Given the description of an element on the screen output the (x, y) to click on. 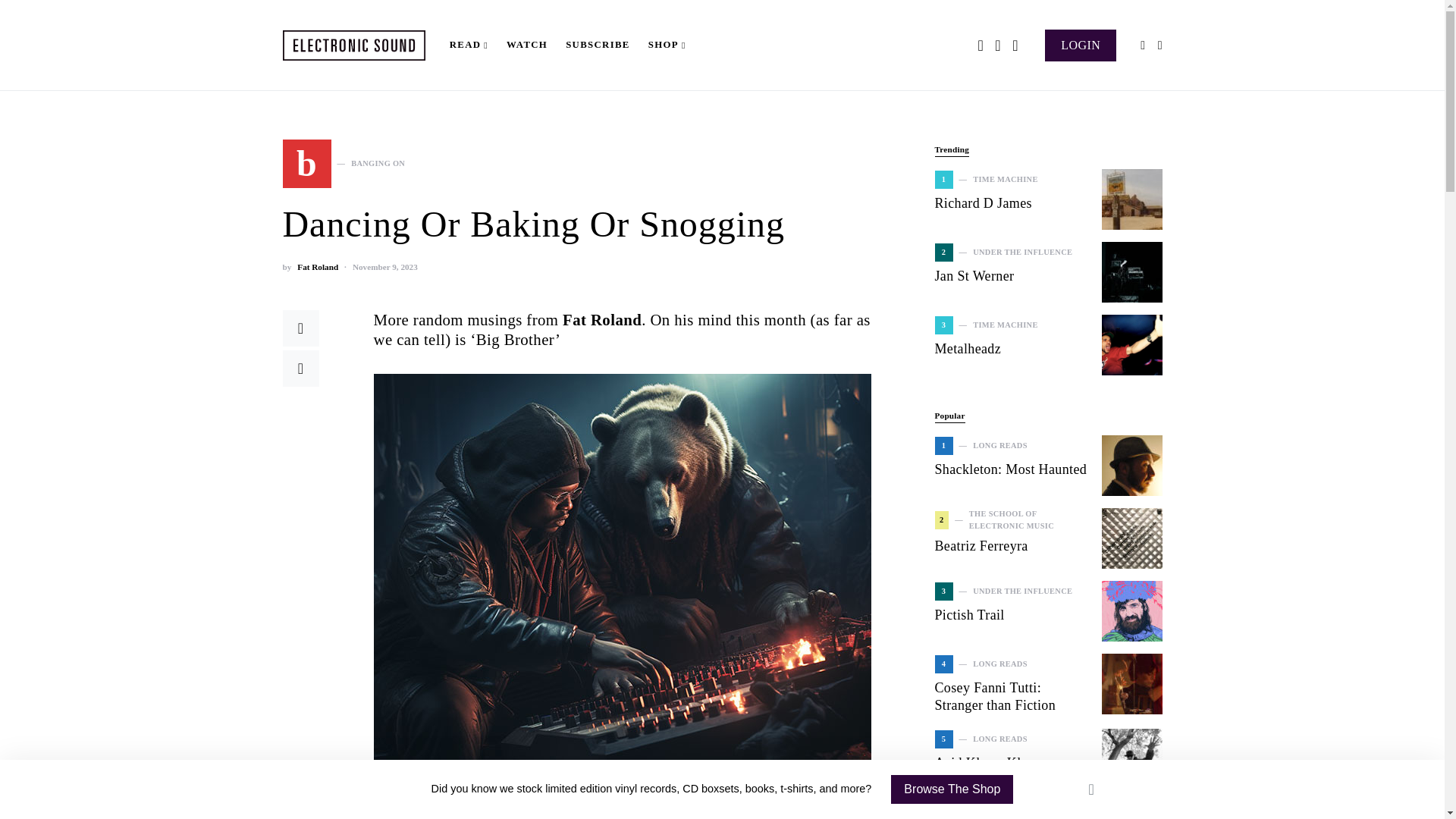
View all posts by Fat Roland (317, 267)
Fat Roland (317, 267)
LOGIN (1080, 44)
SUBSCRIBE (597, 45)
